Given the description of an element on the screen output the (x, y) to click on. 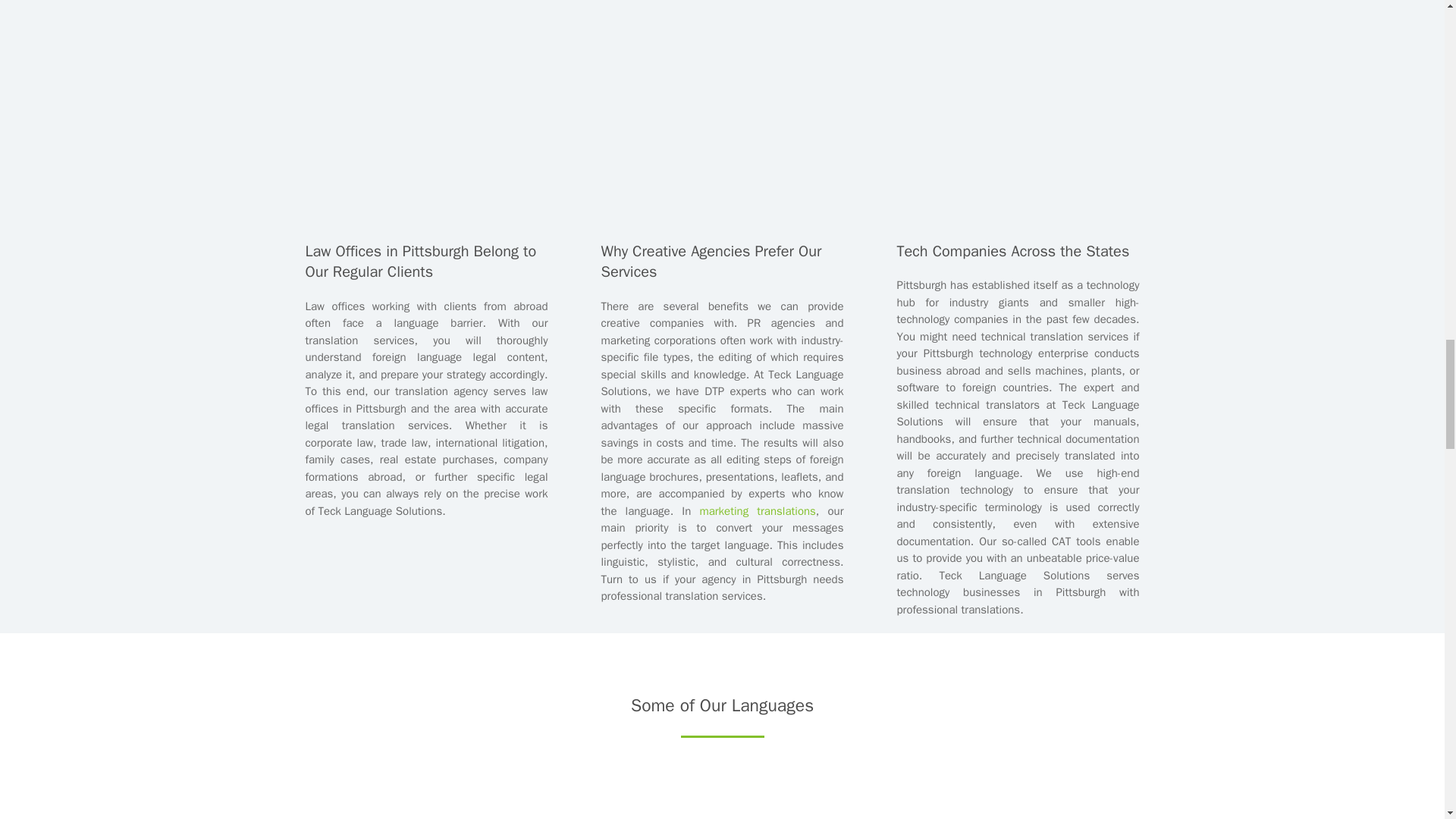
marketing translations (756, 510)
Spanish translations for your Pittsburgh company (425, 808)
Looking for a German translator in Pittsburgh? (1017, 808)
Translation services for your Pittsburgh business (721, 90)
If you law office in Pittsburgh needs translation services (425, 90)
Need French translations in Pittsburgh? (721, 808)
